Given the description of an element on the screen output the (x, y) to click on. 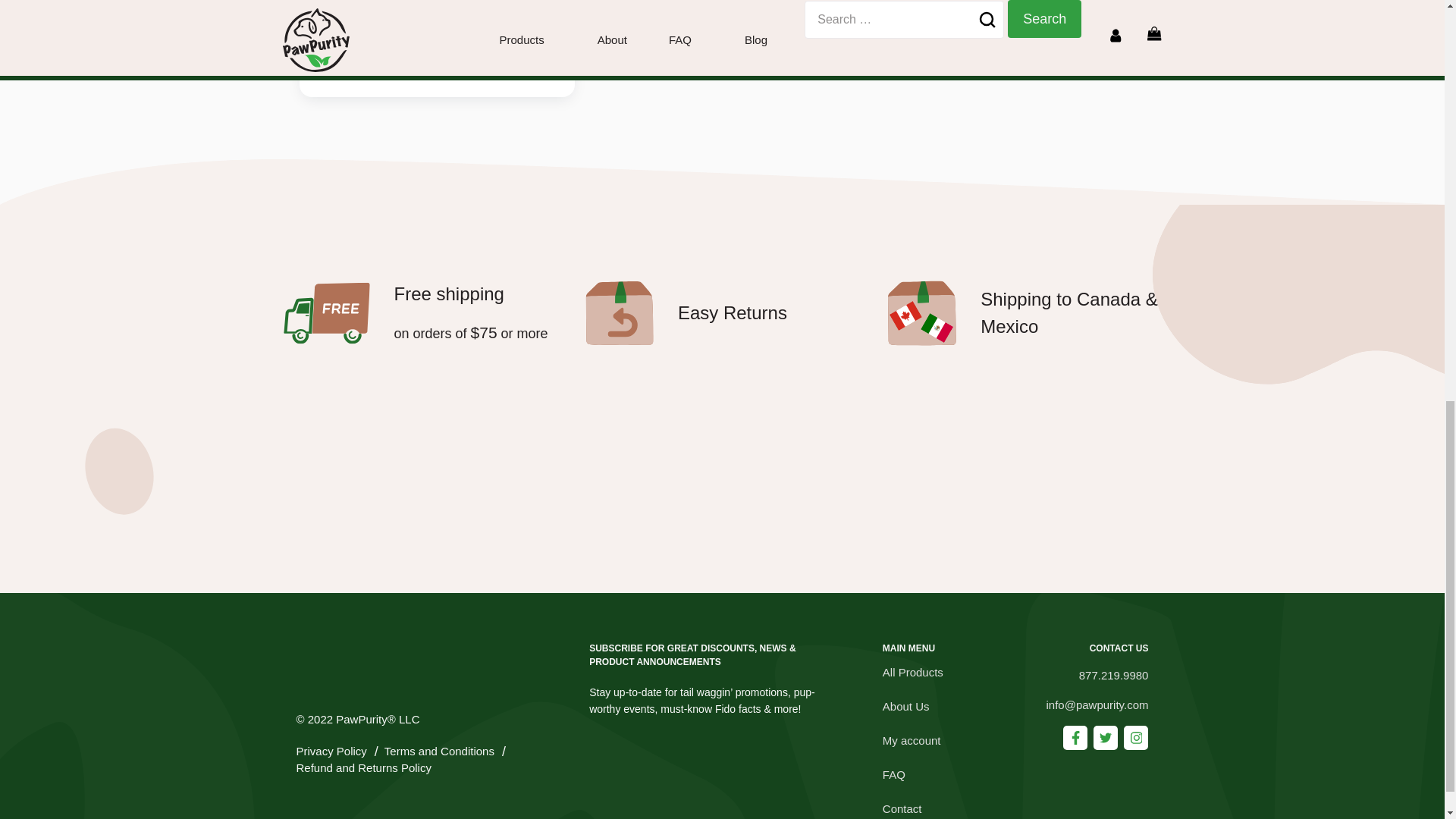
Refund and Returns Policy (362, 768)
Continue reading (365, 65)
Terms and Conditions (439, 751)
Privacy Policy (330, 751)
